Given the description of an element on the screen output the (x, y) to click on. 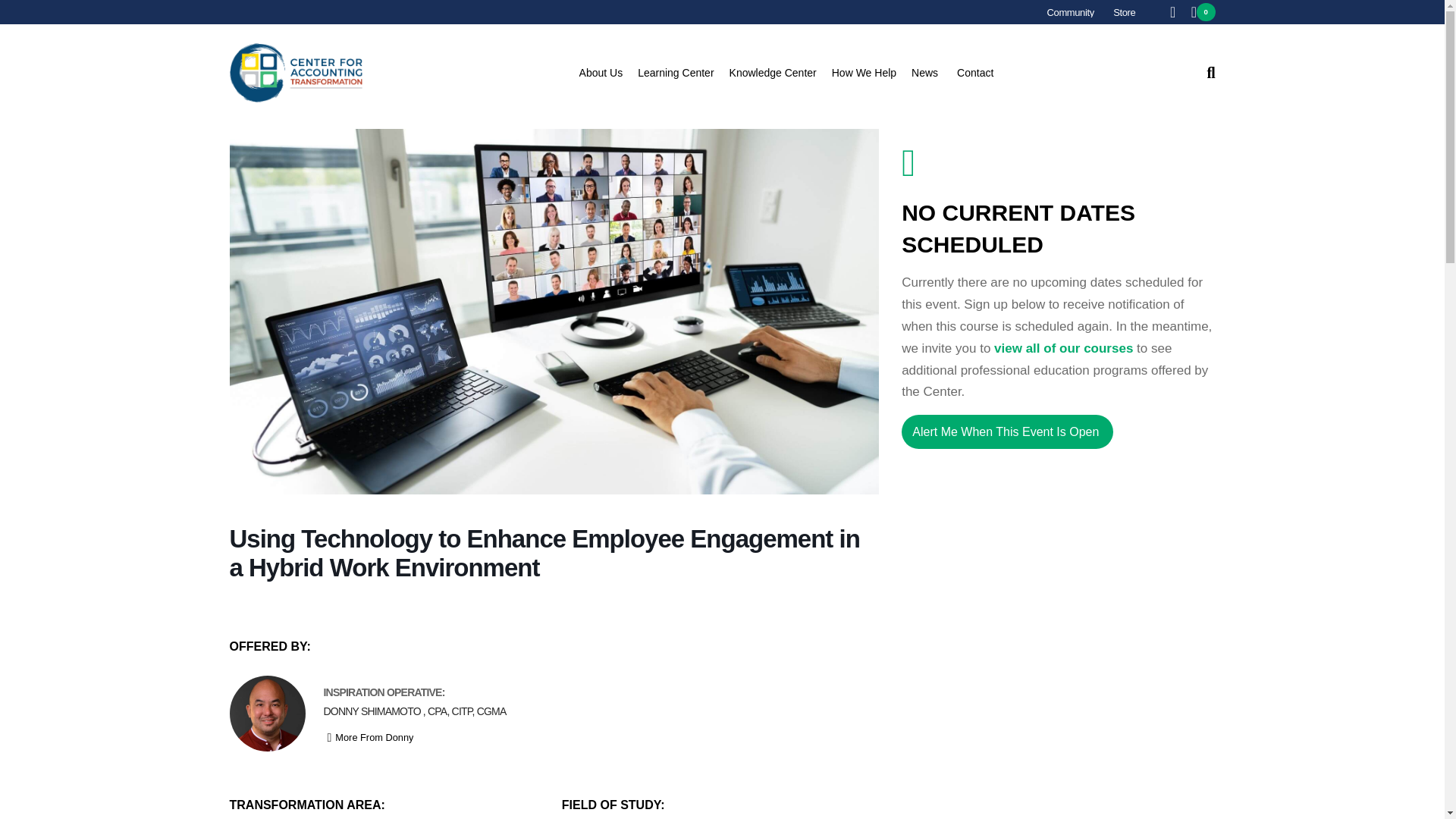
Contact (975, 72)
view all of our courses (1063, 348)
Store (1124, 12)
How We Help (871, 72)
More From Donny (368, 737)
Learning Center (683, 72)
About Us (609, 72)
Community (1070, 12)
DONNY SHIMAMOTO , CPA, CITP, CGMA (414, 711)
News (932, 72)
Knowledge Center (780, 72)
